Given the description of an element on the screen output the (x, y) to click on. 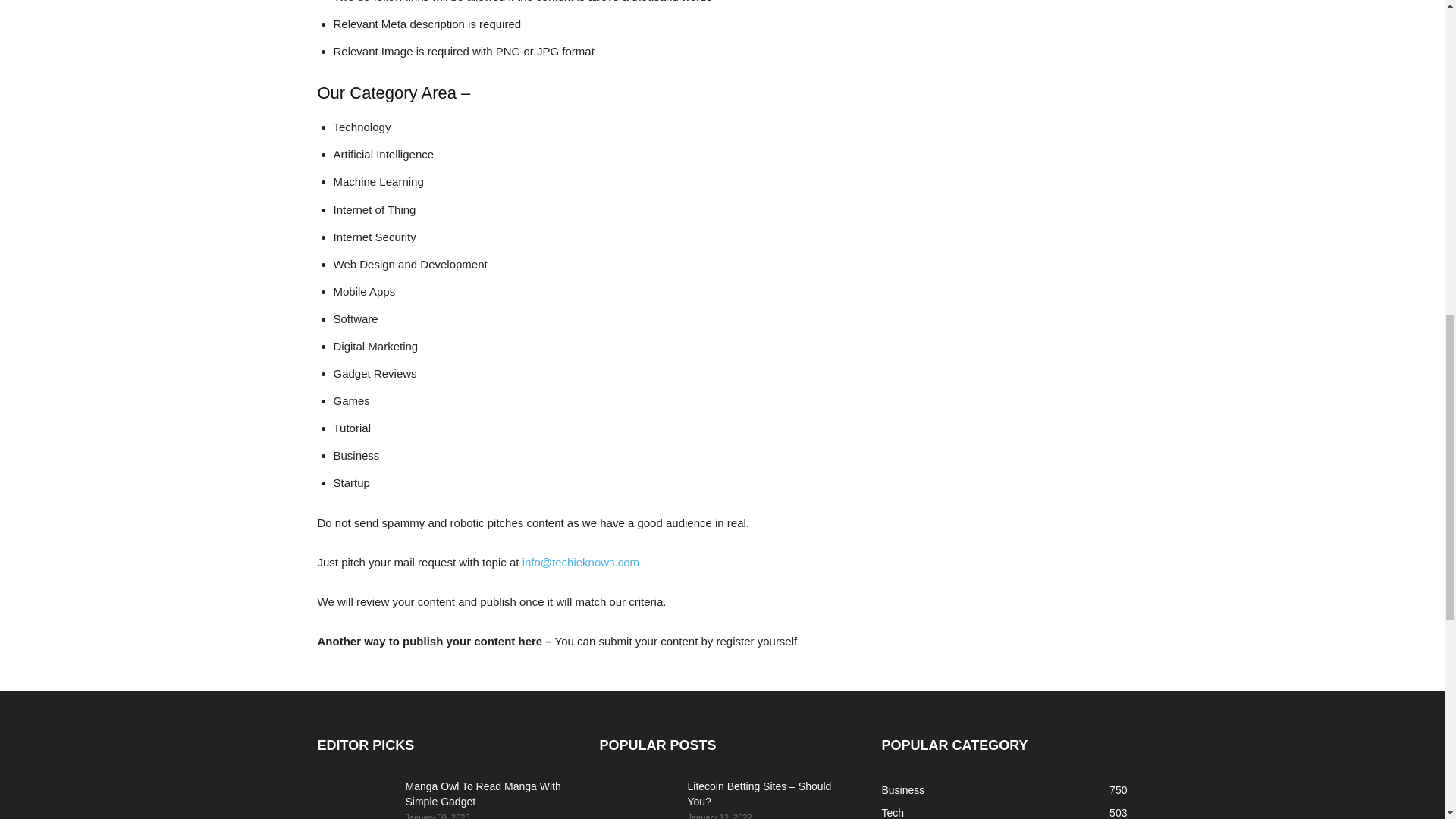
Manga Owl To Read Manga With Simple Gadget (355, 798)
Manga Owl To Read Manga With Simple Gadget (482, 793)
